Given the description of an element on the screen output the (x, y) to click on. 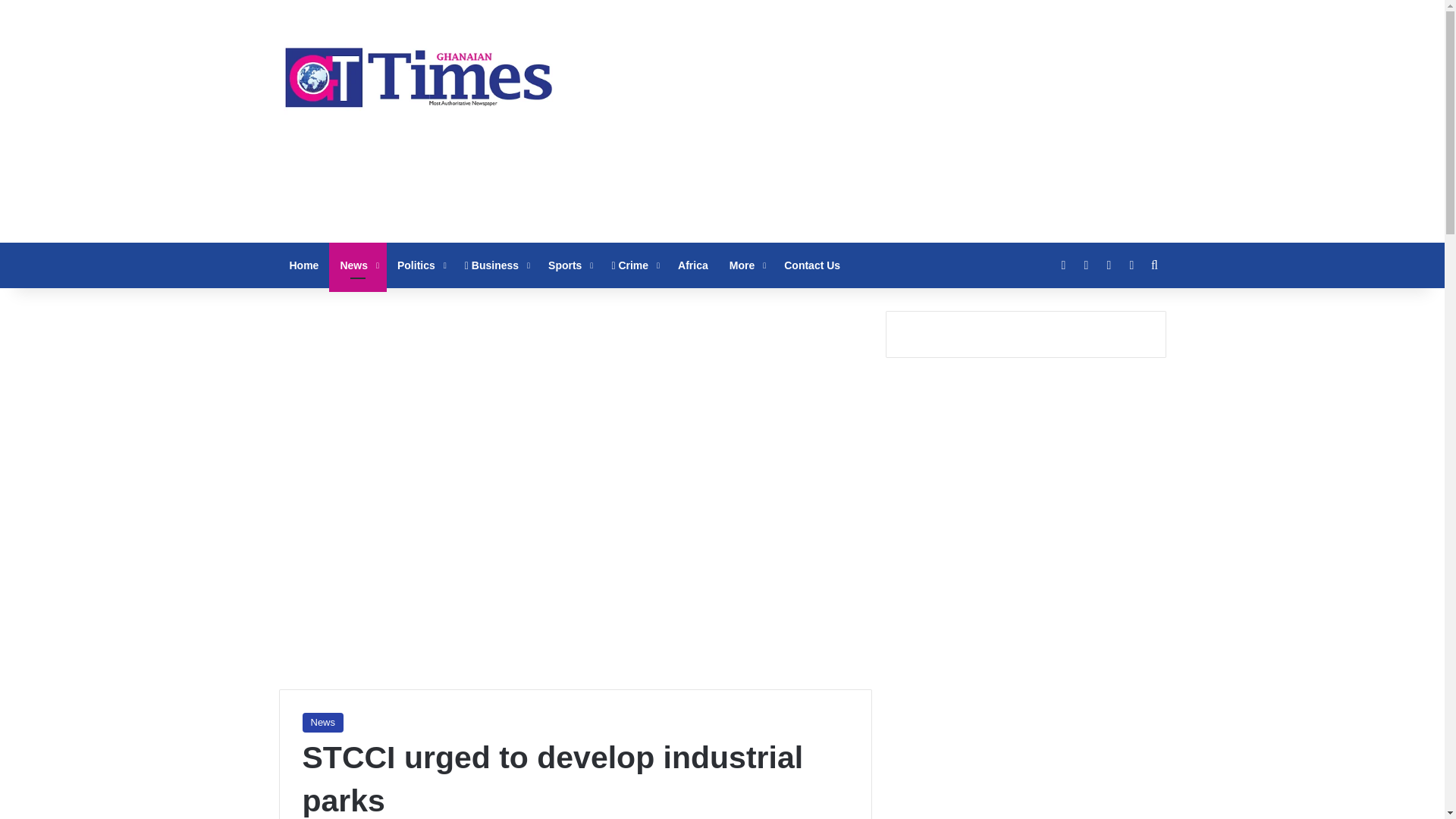
Crime (632, 265)
Sports (568, 265)
Politics (420, 265)
Africa (692, 265)
News (322, 722)
Home (304, 265)
Business (495, 265)
Ghanaian Times (419, 72)
News (358, 265)
More (746, 265)
Contact Us (811, 265)
